Given the description of an element on the screen output the (x, y) to click on. 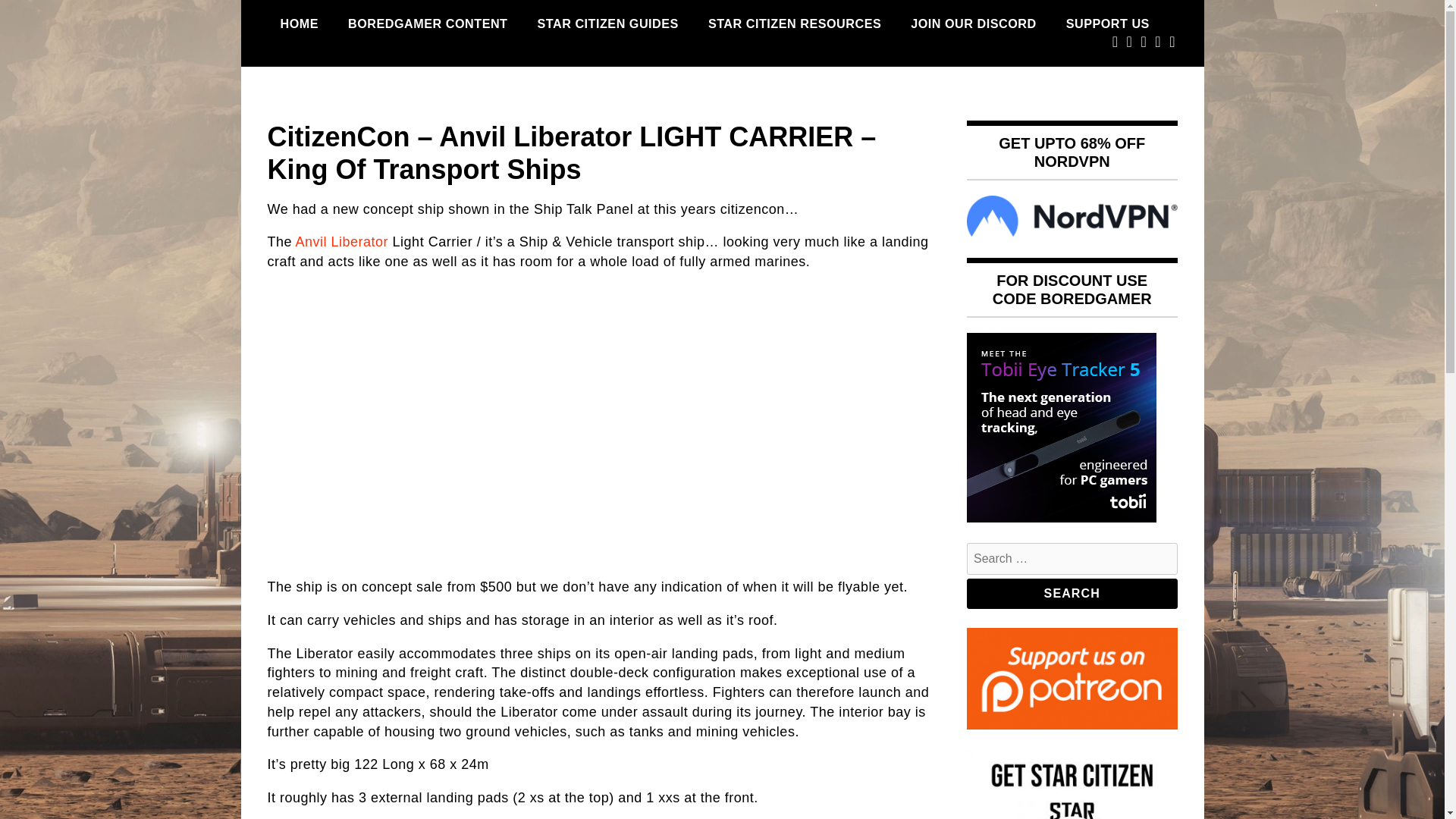
Search (1071, 593)
HOME (298, 23)
SUPPORT US (1107, 23)
BOREDGAMER CONTENT (427, 23)
Anvil Liberator (341, 241)
STAR CITIZEN RESOURCES (794, 23)
Search (1071, 593)
STAR CITIZEN GUIDES (607, 23)
BoredGamer (350, 114)
